Given the description of an element on the screen output the (x, y) to click on. 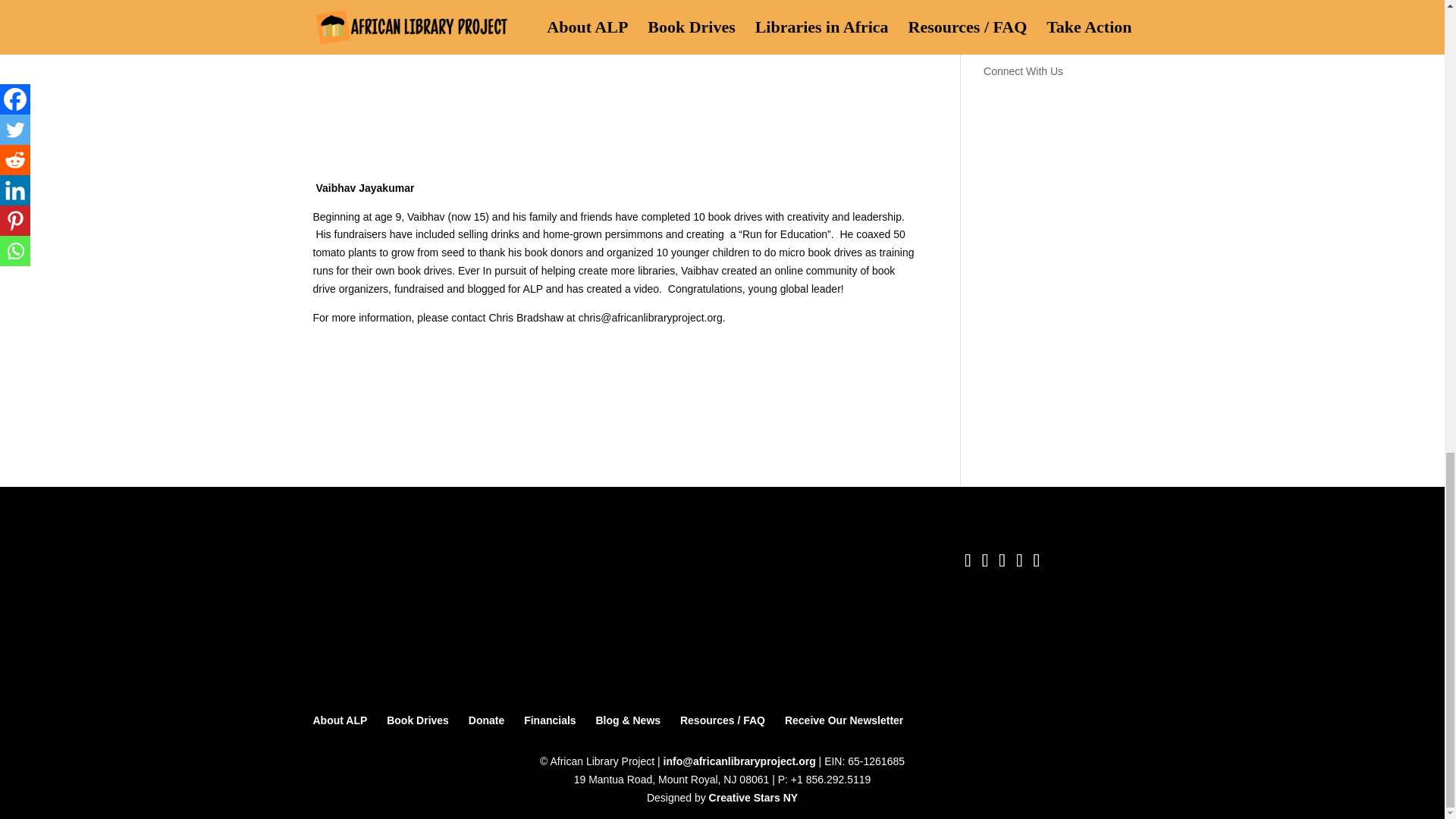
Donate (1000, 42)
Connect With Us (1023, 70)
Host a book drive (1024, 13)
